Given the description of an element on the screen output the (x, y) to click on. 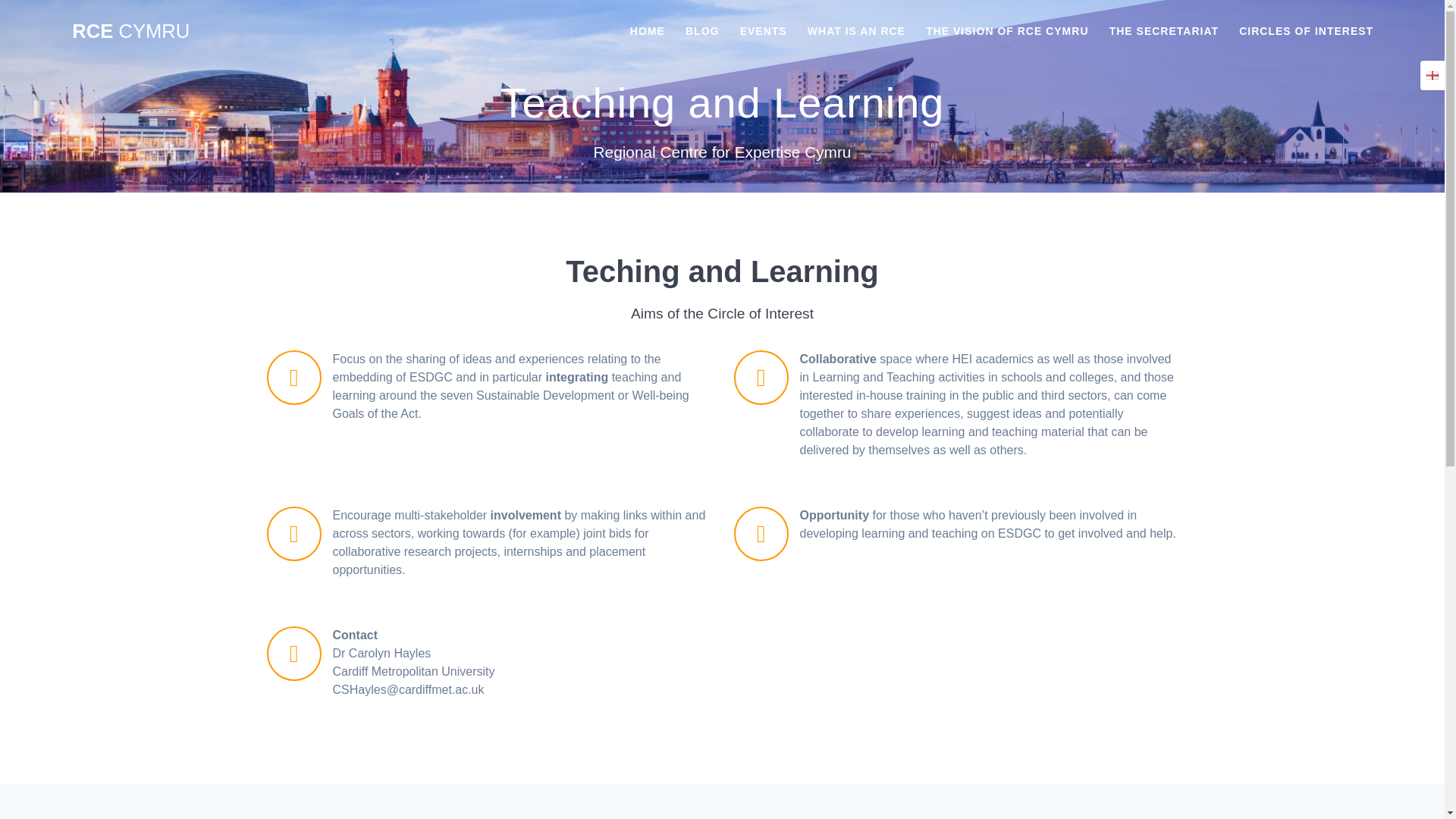
BLOG (702, 31)
WHAT IS AN RCE (856, 31)
CIRCLES OF INTEREST (1306, 31)
EVENTS (763, 31)
THE VISION OF RCE CYMRU (1006, 31)
HOME (647, 31)
THE SECRETARIAT (1163, 31)
English (1432, 75)
RCE CYMRU (130, 31)
